Given the description of an element on the screen output the (x, y) to click on. 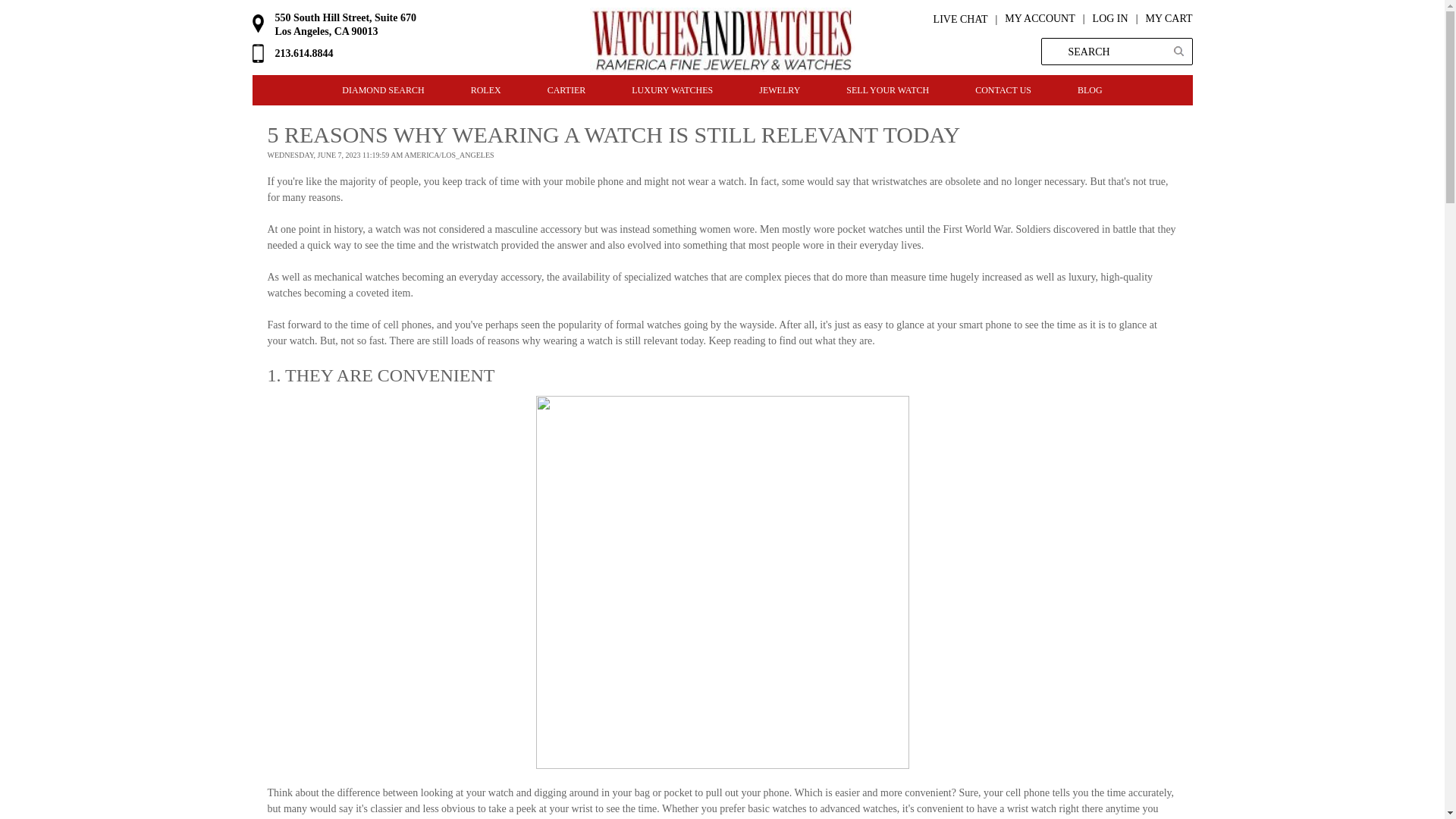
ROLEX (485, 90)
Search (1176, 52)
Log In (1101, 15)
LIVE CHAT (969, 19)
My Account (1039, 15)
DIAMOND SEARCH (382, 90)
MY CART (1160, 15)
My Cart (1160, 15)
213.614.8844 (304, 52)
LOG IN (1101, 15)
MY ACCOUNT (1039, 15)
